Given the description of an element on the screen output the (x, y) to click on. 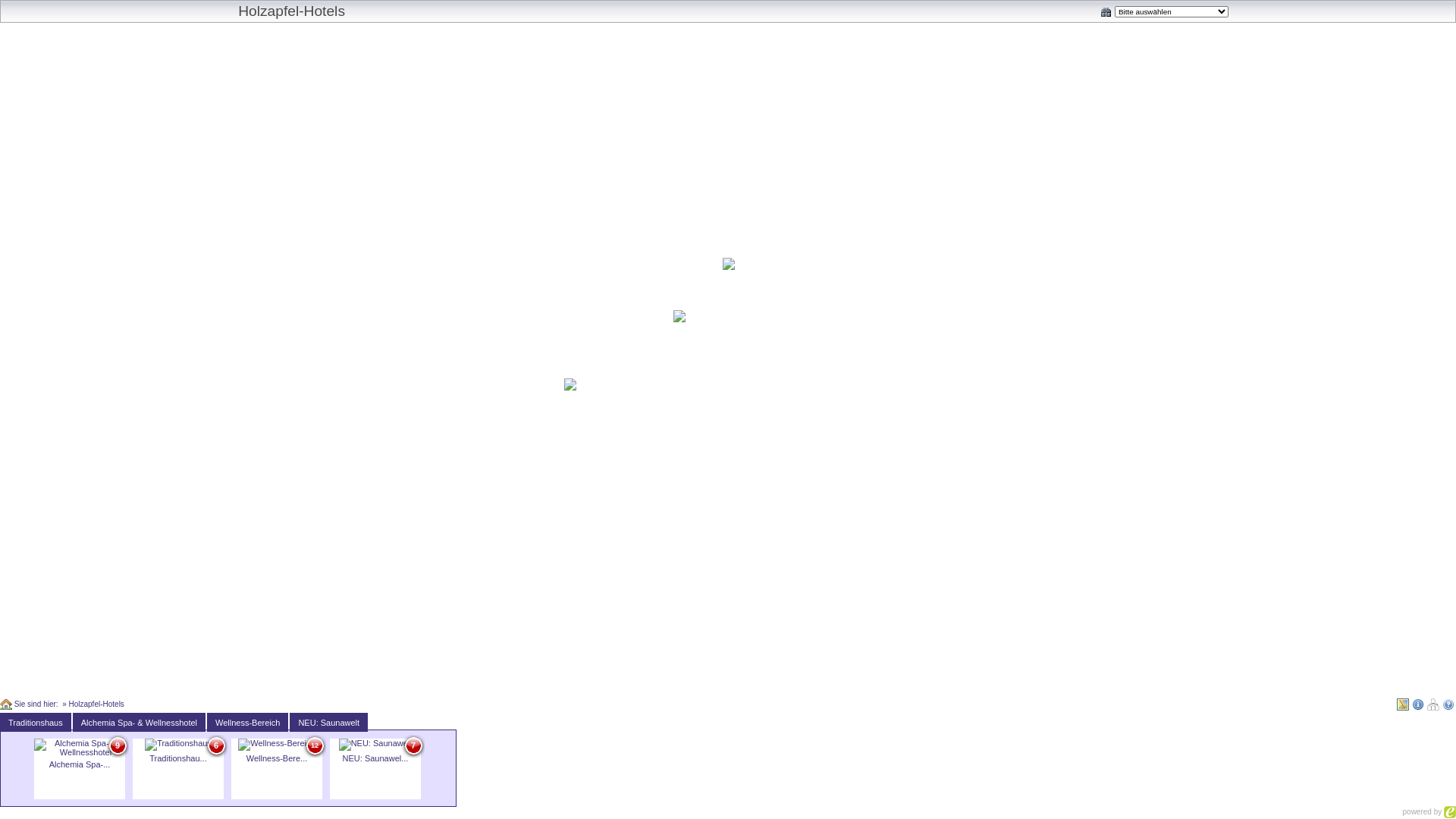
Alchemia Spa- & Wellnesshotel Element type: text (138, 722)
Sie sind hier Element type: hover (6, 704)
Traditionshau... Element type: text (177, 750)
Sitemap Element type: hover (1433, 704)
Wellness-Bereich Element type: text (247, 722)
NEU: Saunawel... Element type: text (375, 750)
Informationen zum Standort Element type: hover (1418, 704)
Karte anzeigen Element type: hover (1402, 704)
Schnellauswahl Element type: hover (1106, 12)
Traditionshaus Element type: text (35, 722)
Alchemia Spa-... Element type: text (79, 757)
Wellness-Bere... Element type: text (276, 750)
NEU: Saunawelt Element type: text (328, 722)
Ich brauche Hilfe! Element type: hover (1448, 704)
